Given the description of an element on the screen output the (x, y) to click on. 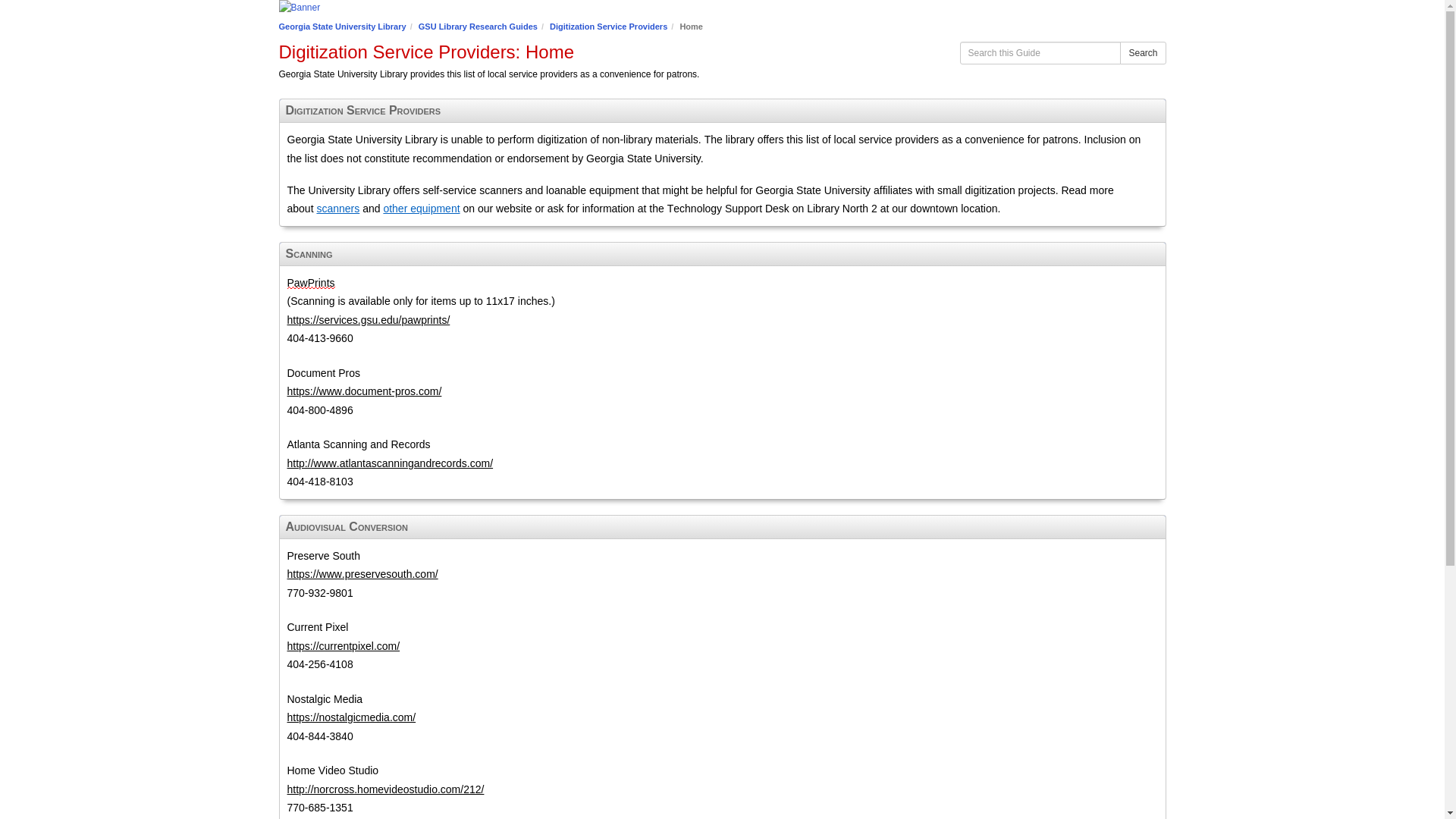
GSU Library Research Guides (478, 26)
scanners (337, 208)
other equipment (421, 208)
Georgia State University Library (342, 26)
Search (1142, 52)
Digitization Service Providers (608, 26)
